Given the description of an element on the screen output the (x, y) to click on. 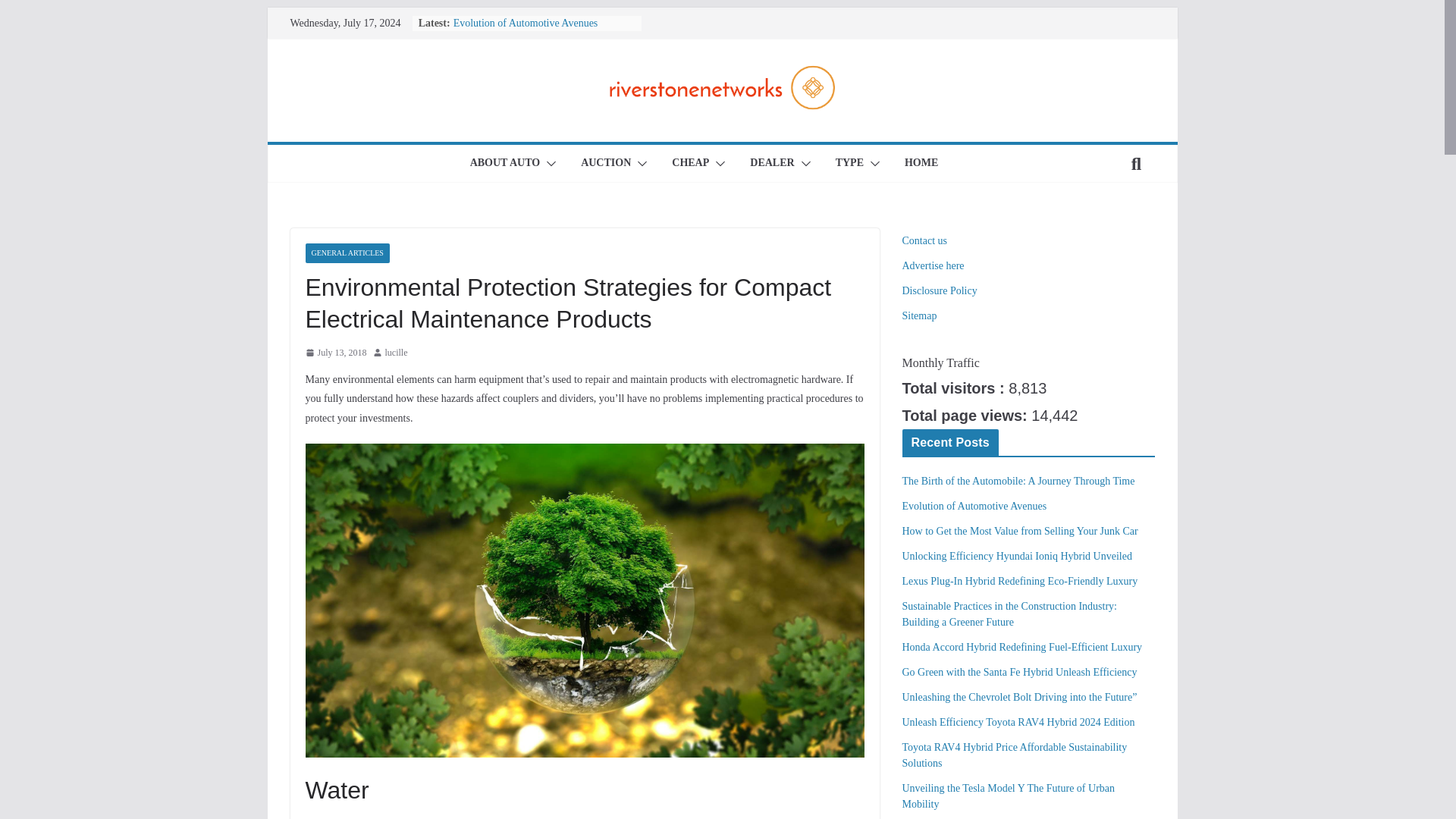
CHEAP (690, 163)
4:03 am (335, 352)
lucille (396, 352)
lucille (396, 352)
TYPE (849, 163)
GENERAL ARTICLES (346, 252)
HOME (920, 163)
ABOUT AUTO (505, 163)
DEALER (771, 163)
Evolution of Automotive Avenues (525, 22)
Evolution of Automotive Avenues (525, 22)
July 13, 2018 (335, 352)
AUCTION (605, 163)
